Given the description of an element on the screen output the (x, y) to click on. 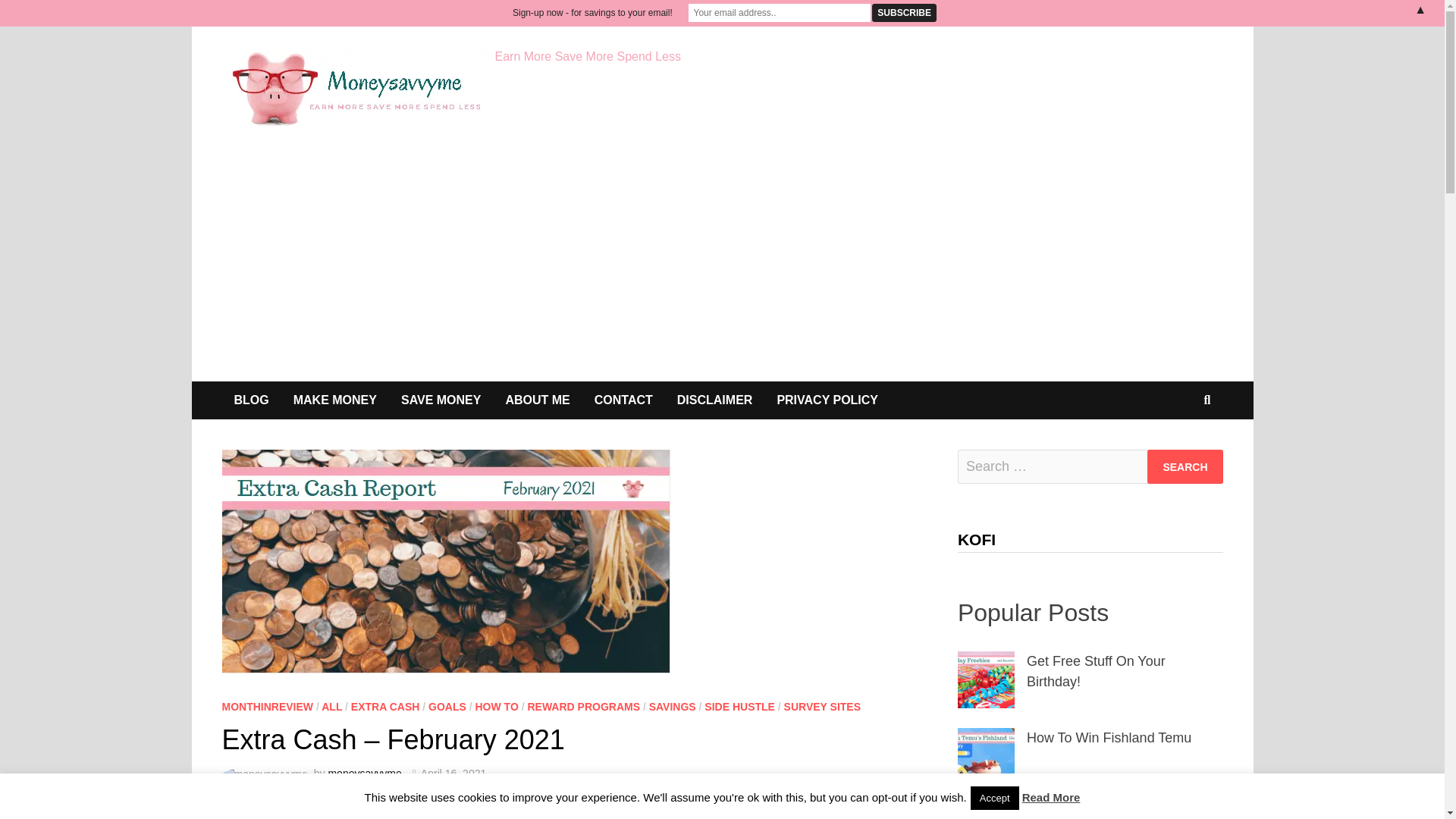
Search (1185, 466)
Search (1185, 466)
GOALS (446, 706)
SIDE HUSTLE (739, 706)
ALL (331, 706)
BLOG (251, 400)
ABOUT ME (536, 400)
SAVE MONEY (440, 400)
REWARD PROGRAMS (583, 706)
April 16, 2021 (453, 773)
CONTACT (623, 400)
moneysavvyme (364, 773)
SURVEY SITES (822, 706)
SAVINGS (672, 706)
MONTHINREVIEW (267, 706)
